Given the description of an element on the screen output the (x, y) to click on. 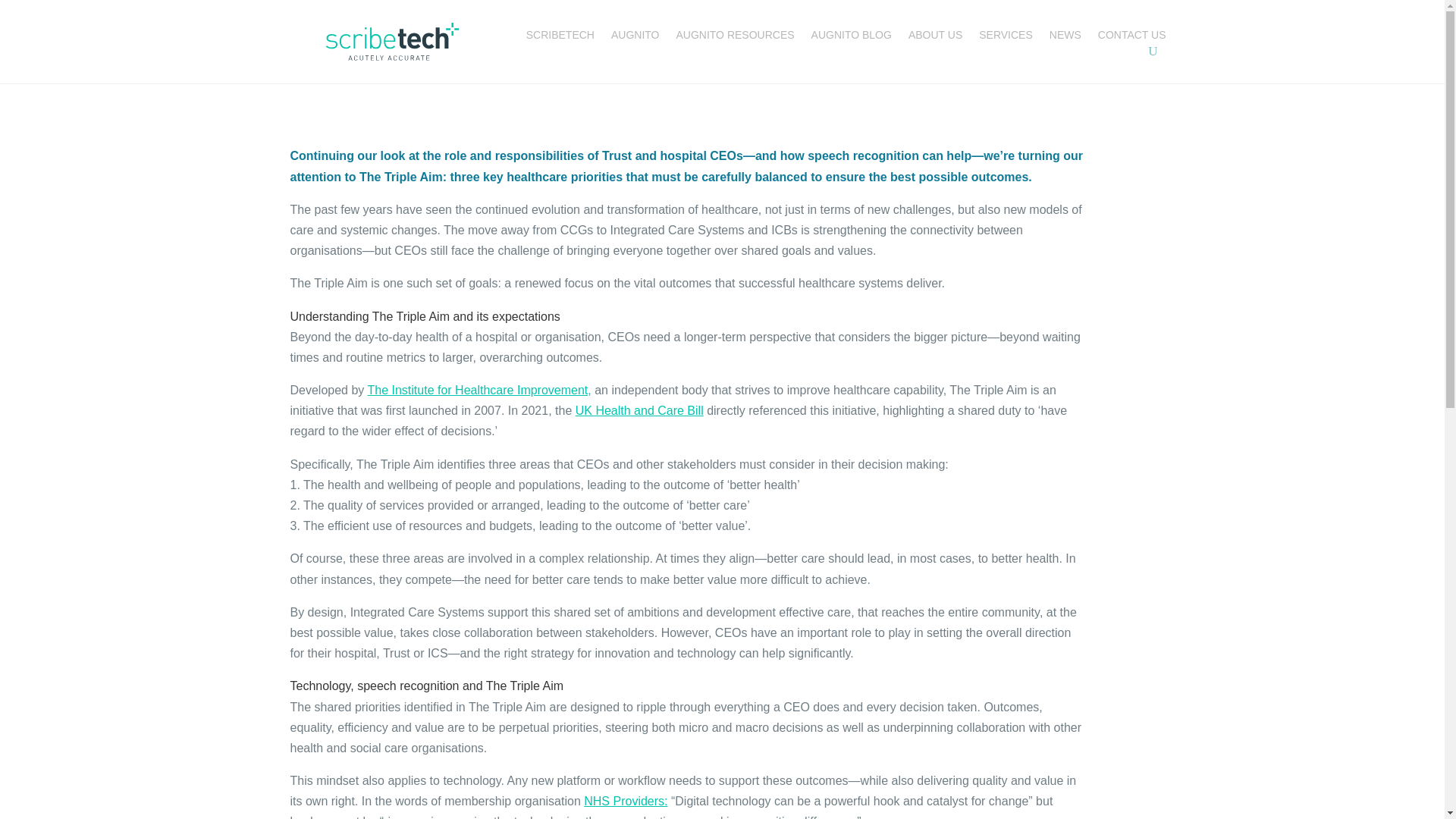
NEWS (1065, 36)
UK Health and Care Bill (639, 410)
AUGNITO BLOG (850, 36)
SERVICES (1005, 36)
SCRIBETECH (559, 36)
AUGNITO RESOURCES (734, 36)
AUGNITO (635, 36)
CONTACT US (1131, 36)
ABOUT US (935, 36)
The Institute for Healthcare Improvement, (478, 390)
